Given the description of an element on the screen output the (x, y) to click on. 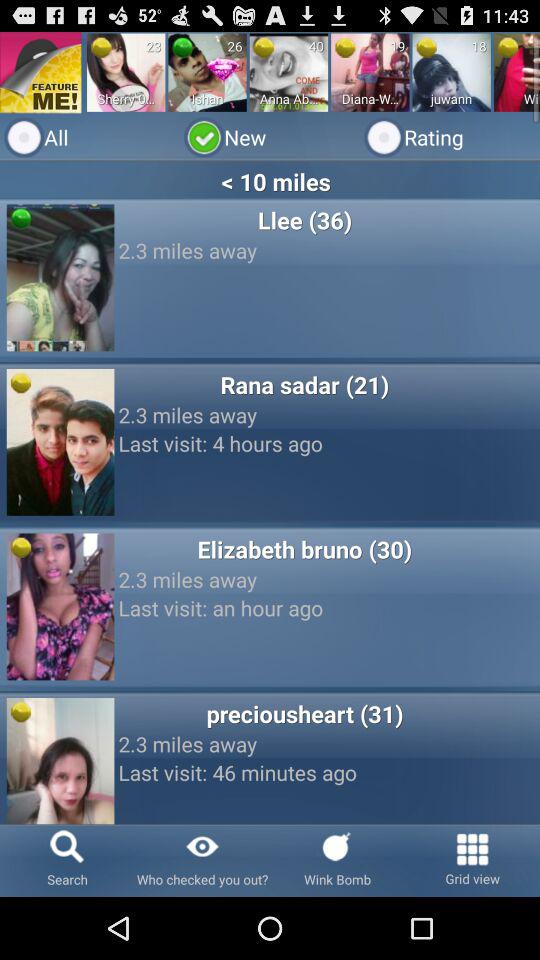
click the button to the left of wink bomb icon (202, 860)
